Given the description of an element on the screen output the (x, y) to click on. 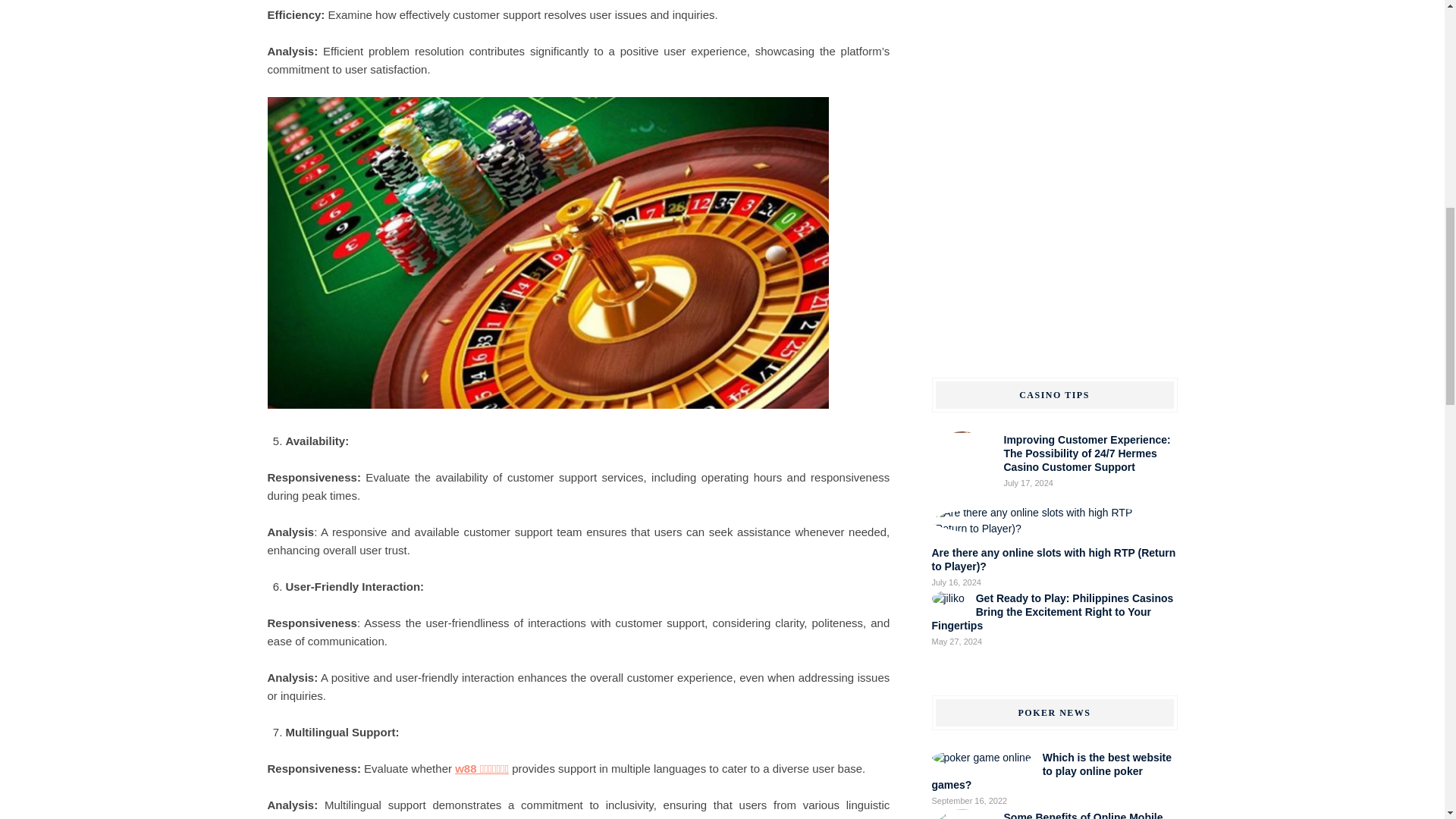
Which is the best website to play online poker games? (1051, 771)
Some Benefits of Online Mobile Poker (1083, 815)
